Given the description of an element on the screen output the (x, y) to click on. 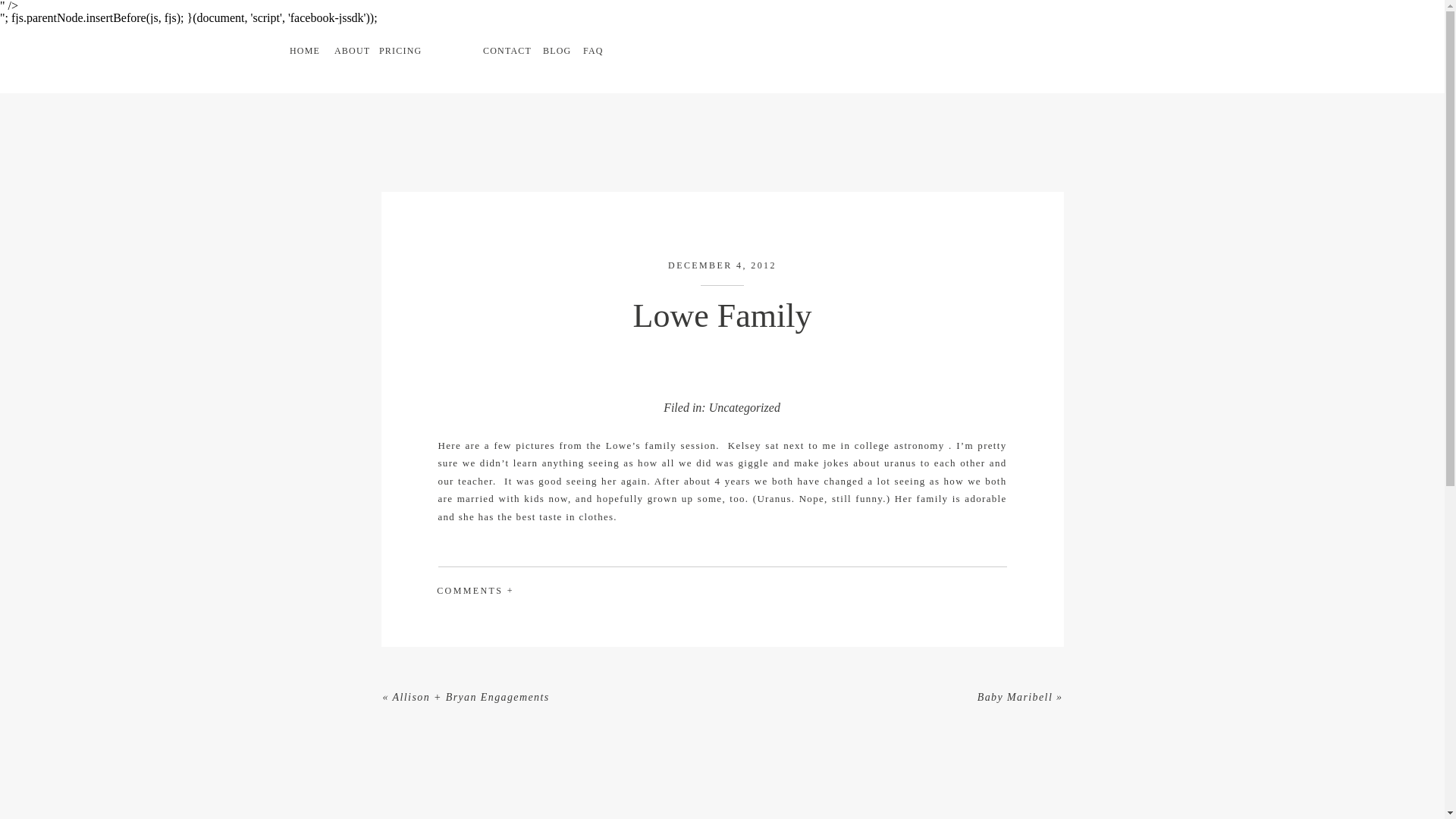
PRICING (398, 52)
Uncategorized (744, 407)
ABOUT (349, 52)
Baby Maribell (1014, 696)
BLOG (555, 52)
CONTACT (502, 52)
FAQ (595, 52)
HOME (303, 52)
